Given the description of an element on the screen output the (x, y) to click on. 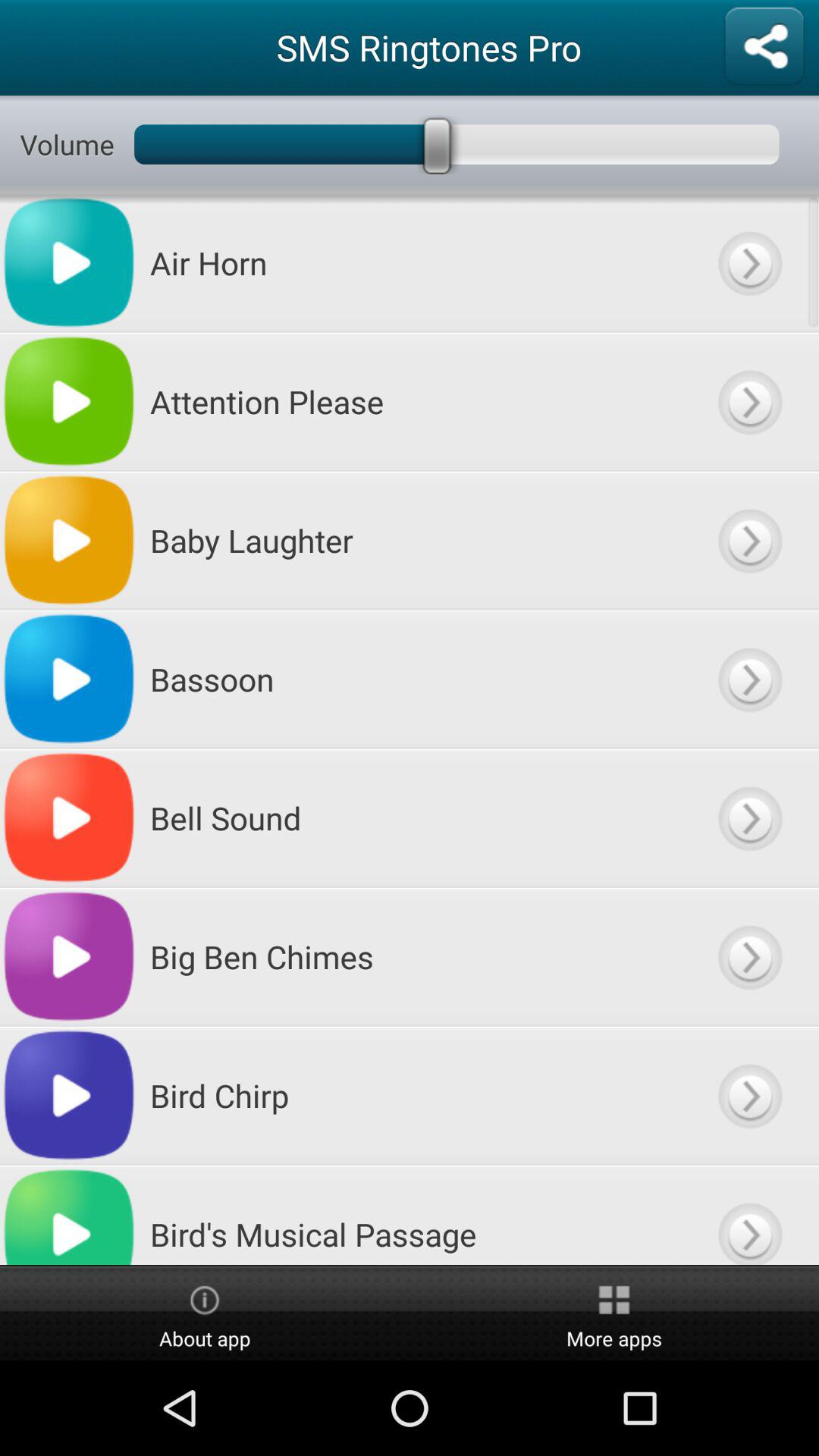
select bird chrip (749, 1095)
